Given the description of an element on the screen output the (x, y) to click on. 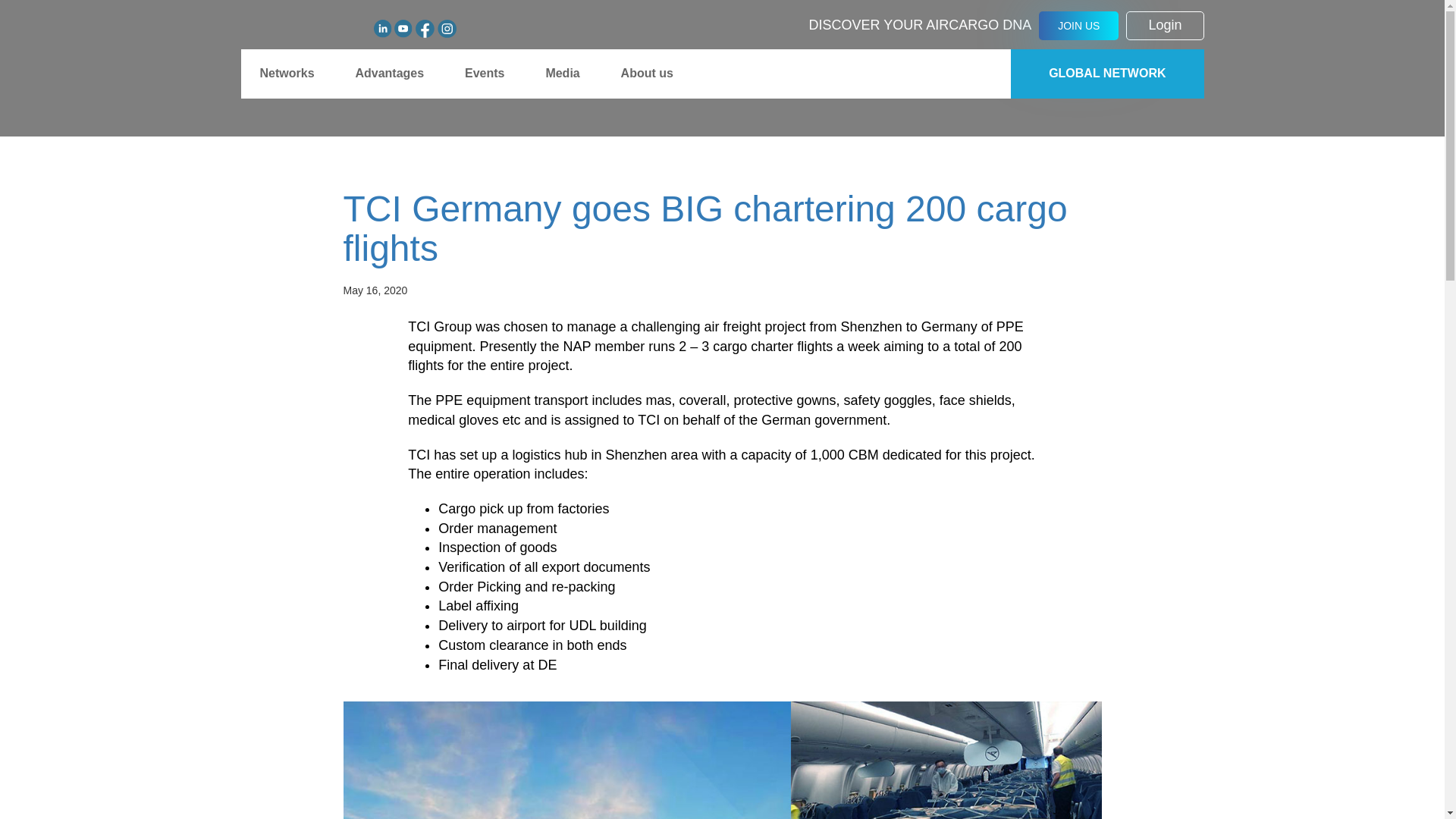
About us (647, 73)
Events (483, 73)
JOIN US (1078, 25)
Networks (287, 73)
GLOBAL NETWORK (1107, 73)
Media (561, 73)
Advantages (389, 73)
Login (1164, 25)
TCI Germany goes BIG chartering 200 cargo flights (721, 228)
